Given the description of an element on the screen output the (x, y) to click on. 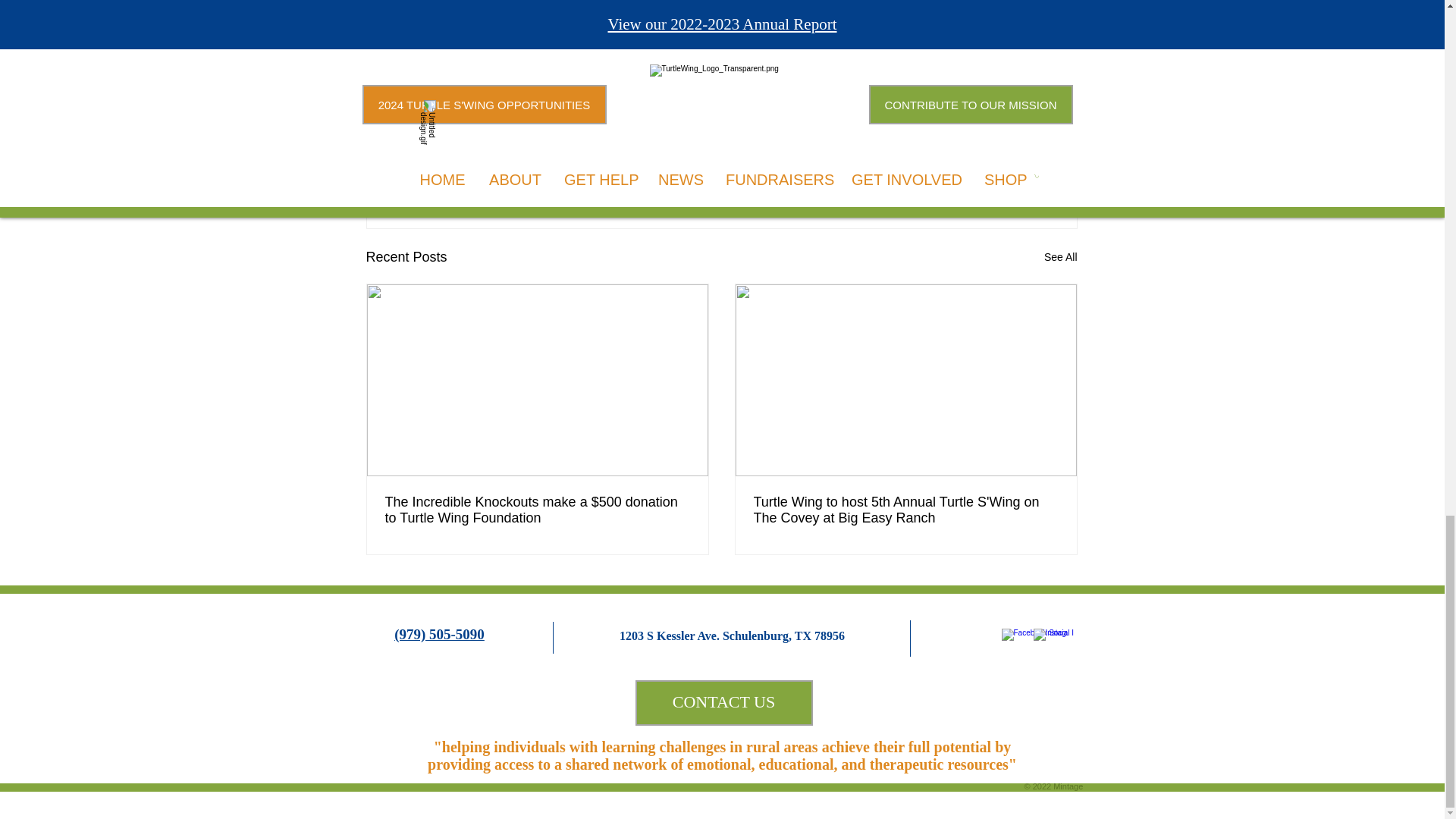
See All (1060, 257)
CONTACT US (723, 702)
